Given the description of an element on the screen output the (x, y) to click on. 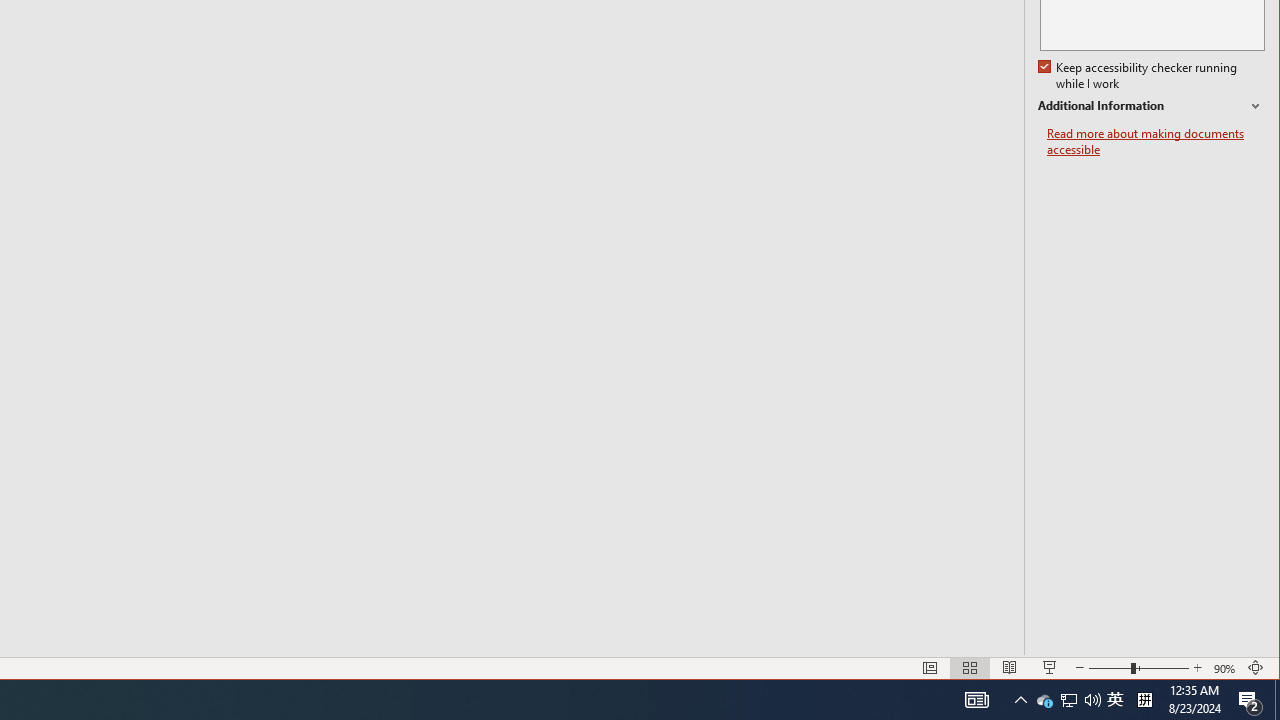
Keep accessibility checker running while I work (1139, 76)
Action Center, 2 new notifications (1250, 699)
Additional Information (1151, 106)
